Given the description of an element on the screen output the (x, y) to click on. 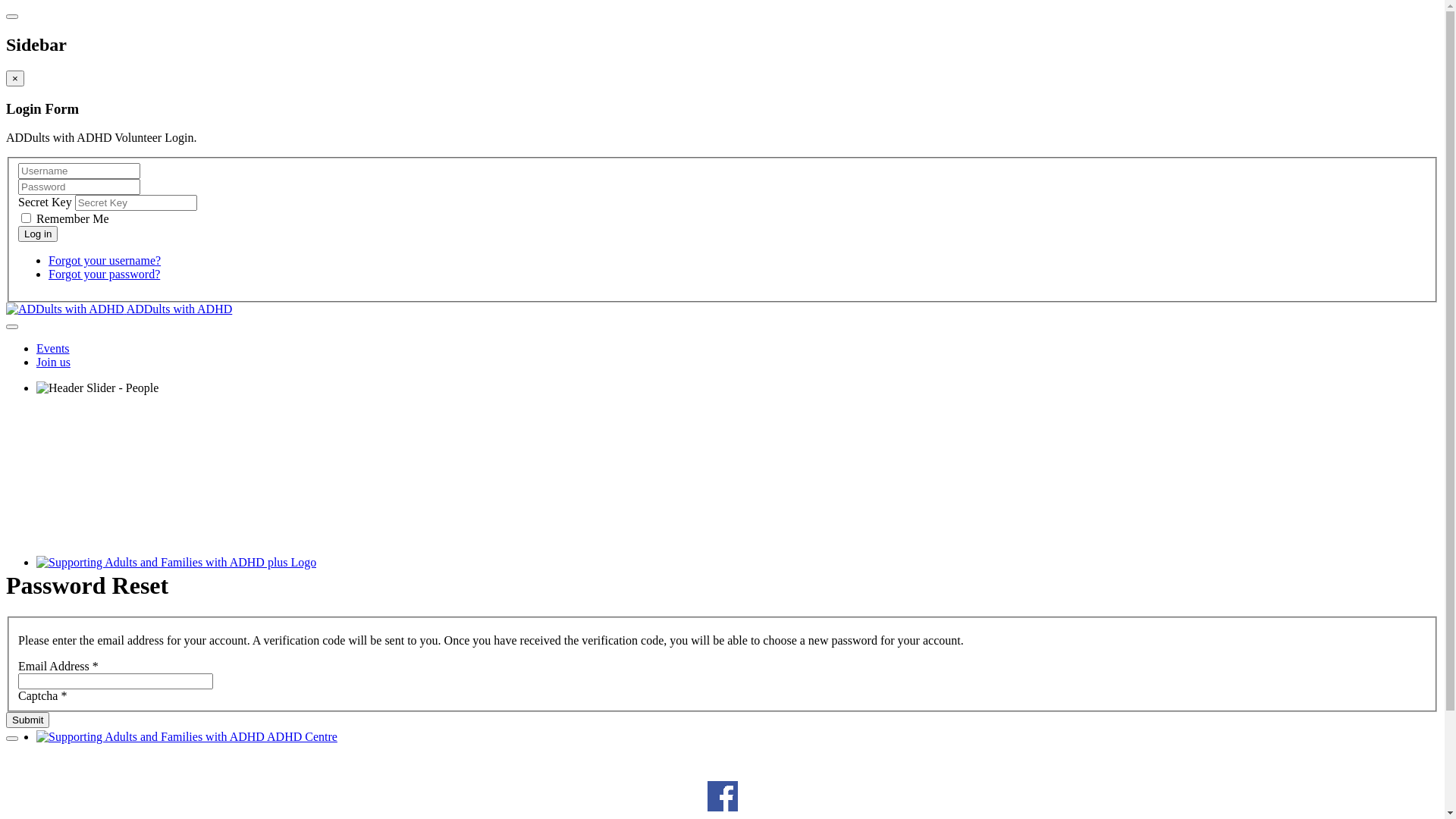
Join us Element type: text (53, 361)
Back to Top Element type: hover (12, 738)
Forgot your username? Element type: text (104, 260)
Log in Element type: text (37, 233)
ADDults with ADHD Facebook Page Element type: hover (721, 806)
Forgot your password? Element type: text (104, 273)
Events Element type: text (52, 348)
Submit Element type: text (27, 720)
ADDults with ADHD Element type: text (119, 308)
